Given the description of an element on the screen output the (x, y) to click on. 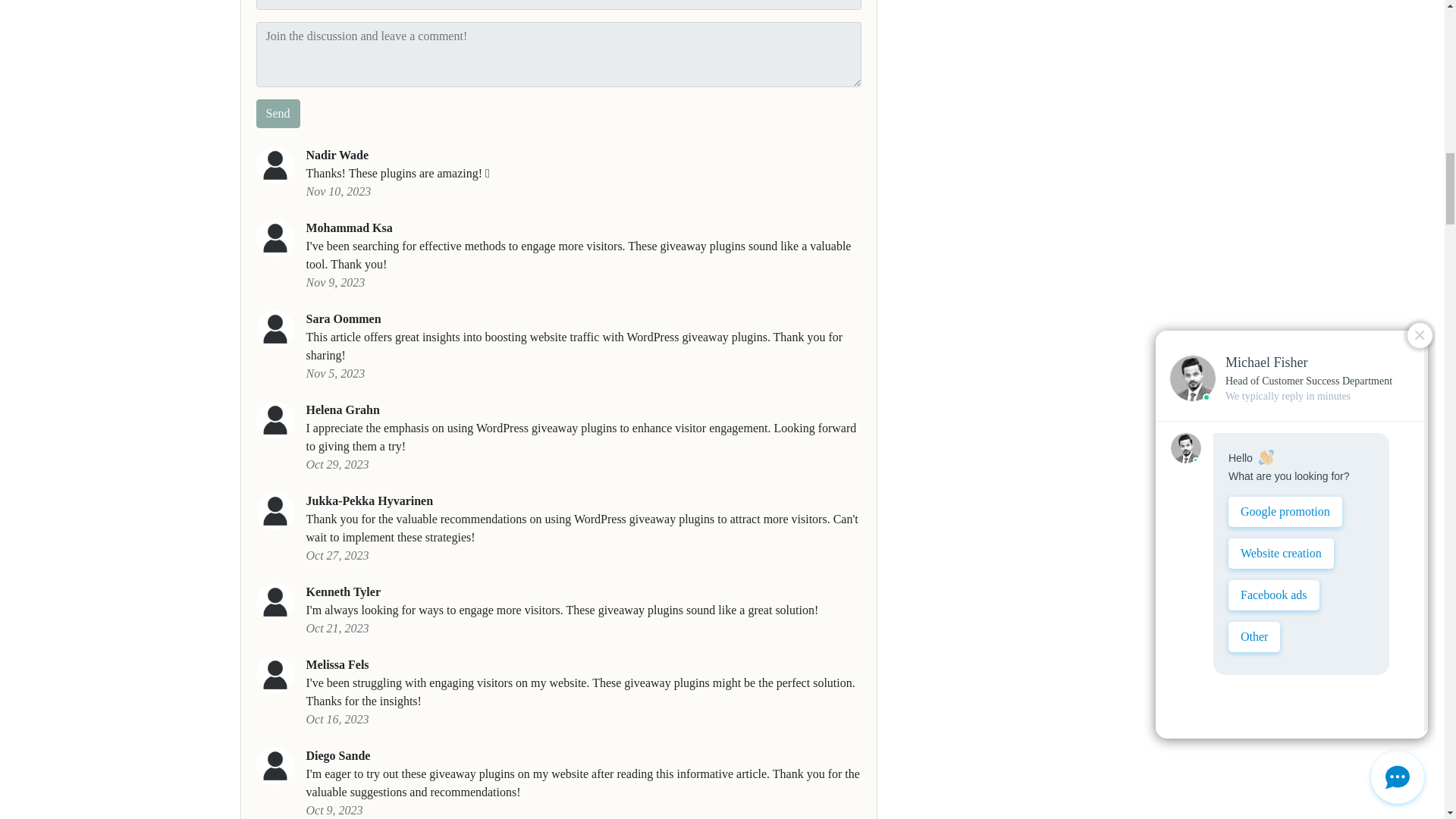
Send (277, 113)
Send (277, 113)
